Given the description of an element on the screen output the (x, y) to click on. 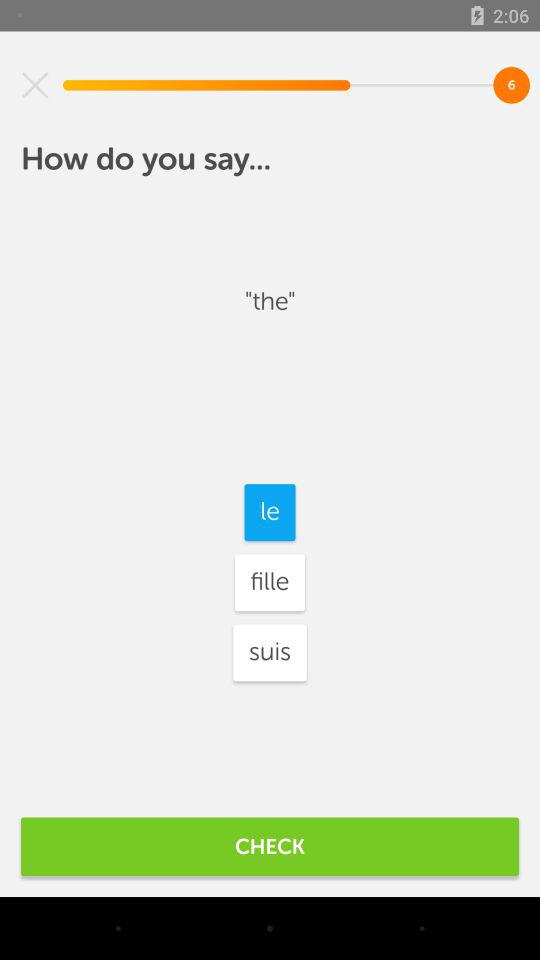
click le item (269, 512)
